Given the description of an element on the screen output the (x, y) to click on. 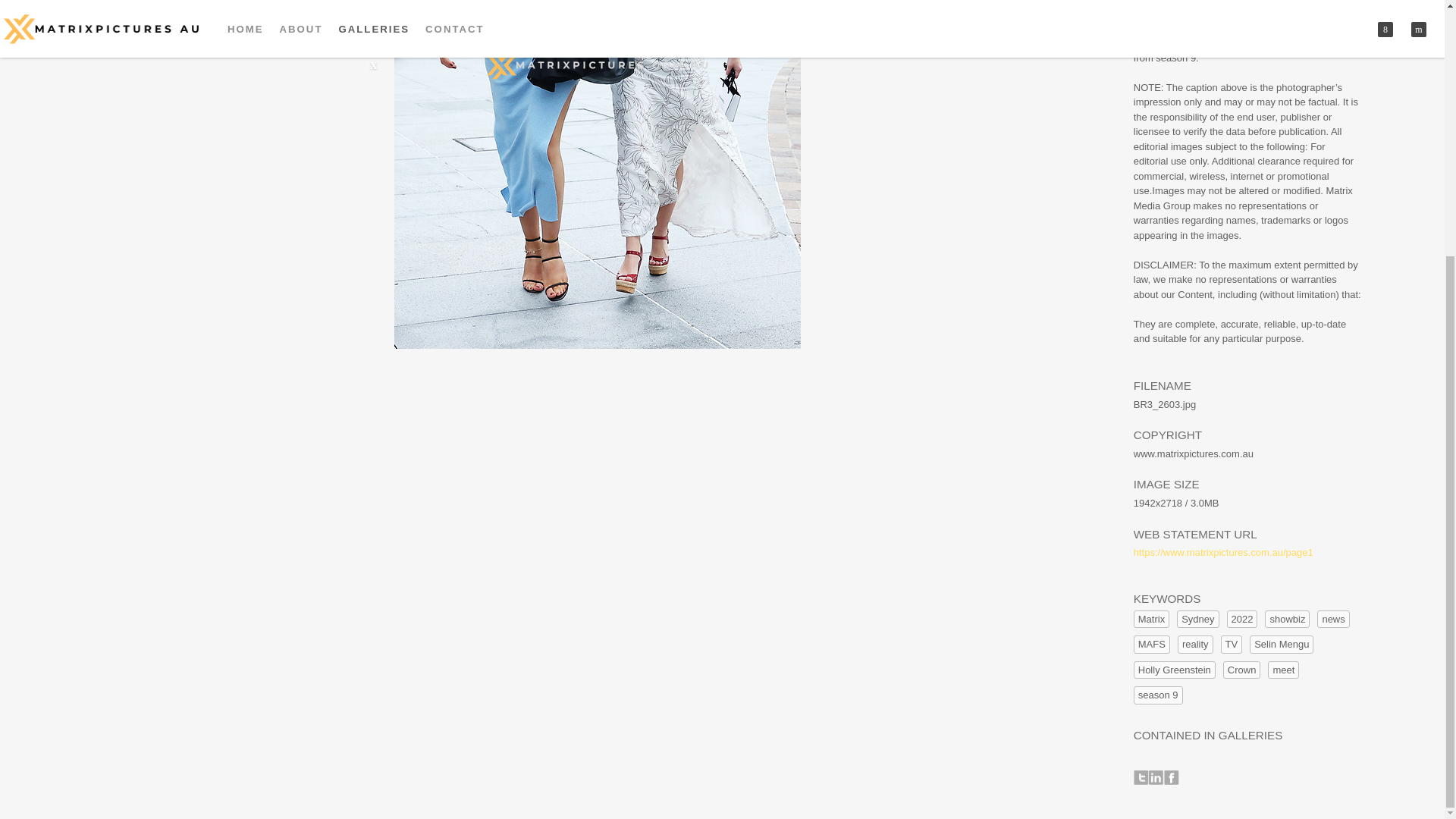
season 9 (1158, 695)
Crown (1241, 669)
Sydney (1197, 619)
reality (1194, 644)
news (1333, 619)
TV (1232, 644)
Selin Mengu (1281, 644)
Matrix (1151, 619)
MAFS (1152, 644)
Holly Greenstein (1174, 669)
